Given the description of an element on the screen output the (x, y) to click on. 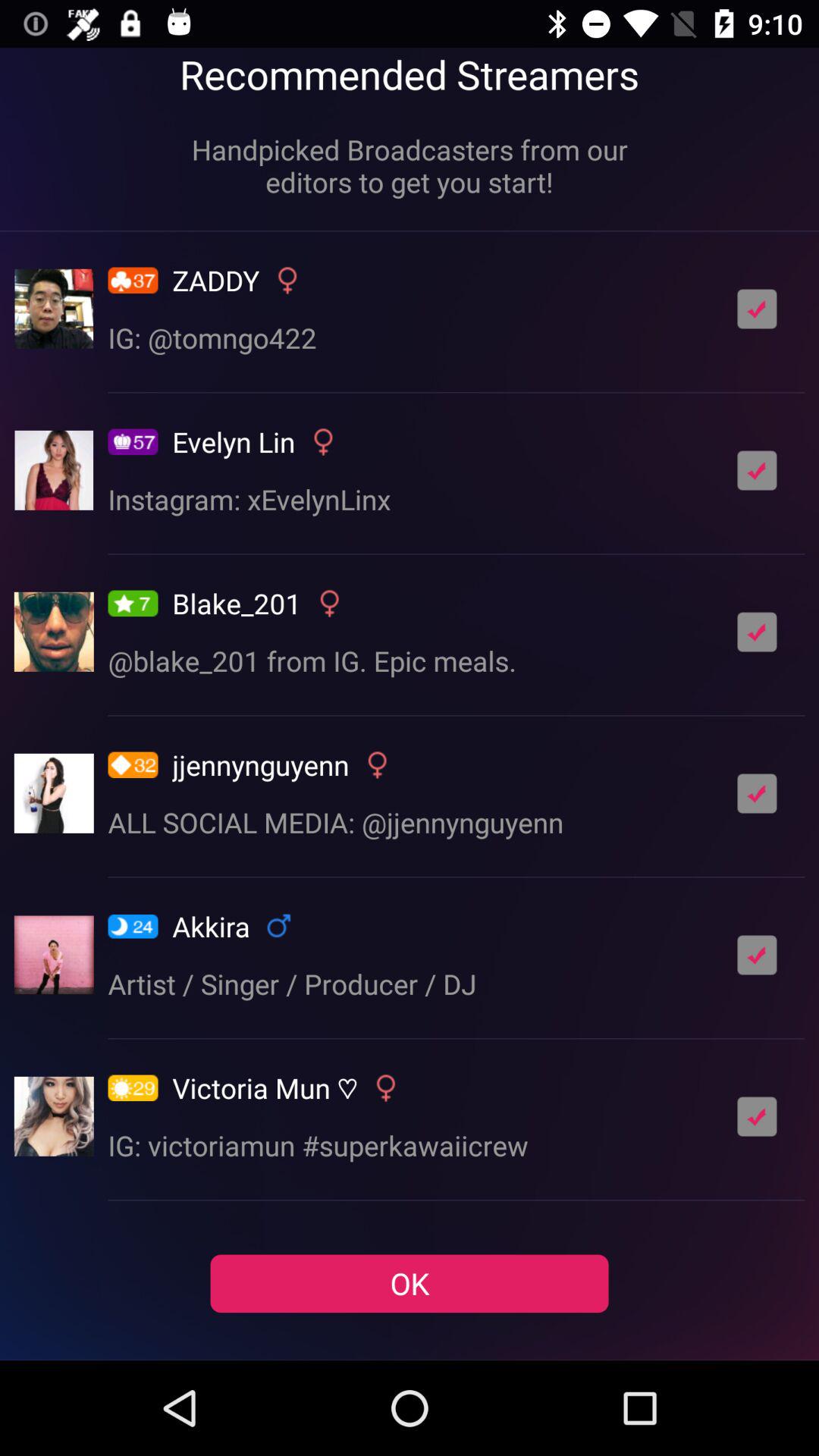
add/follow streamers (756, 470)
